Given the description of an element on the screen output the (x, y) to click on. 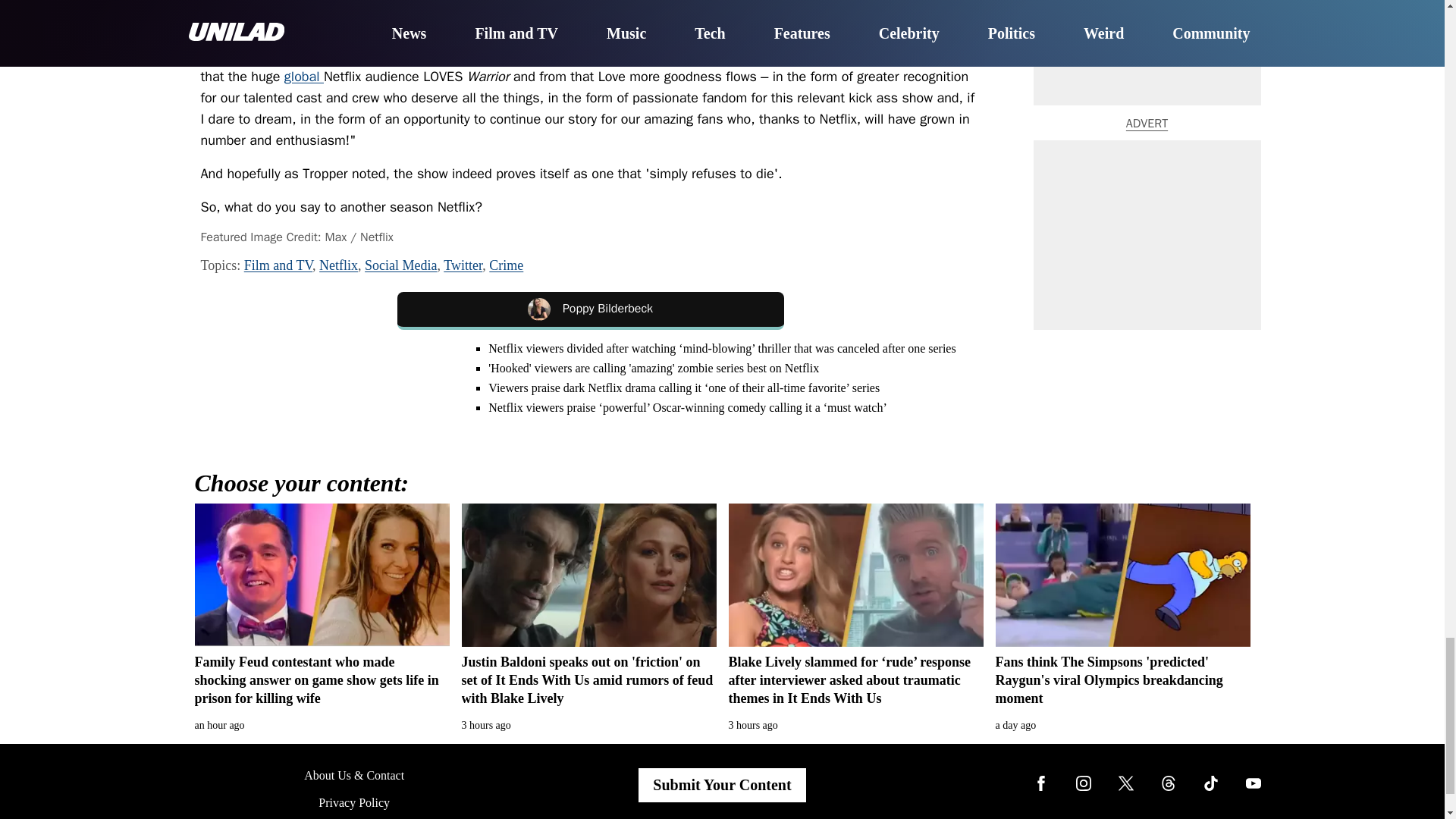
told (946, 33)
Twitter (462, 264)
Social Media (400, 264)
Crime (505, 264)
Film and TV (278, 264)
Netflix (338, 264)
global (303, 76)
